Given the description of an element on the screen output the (x, y) to click on. 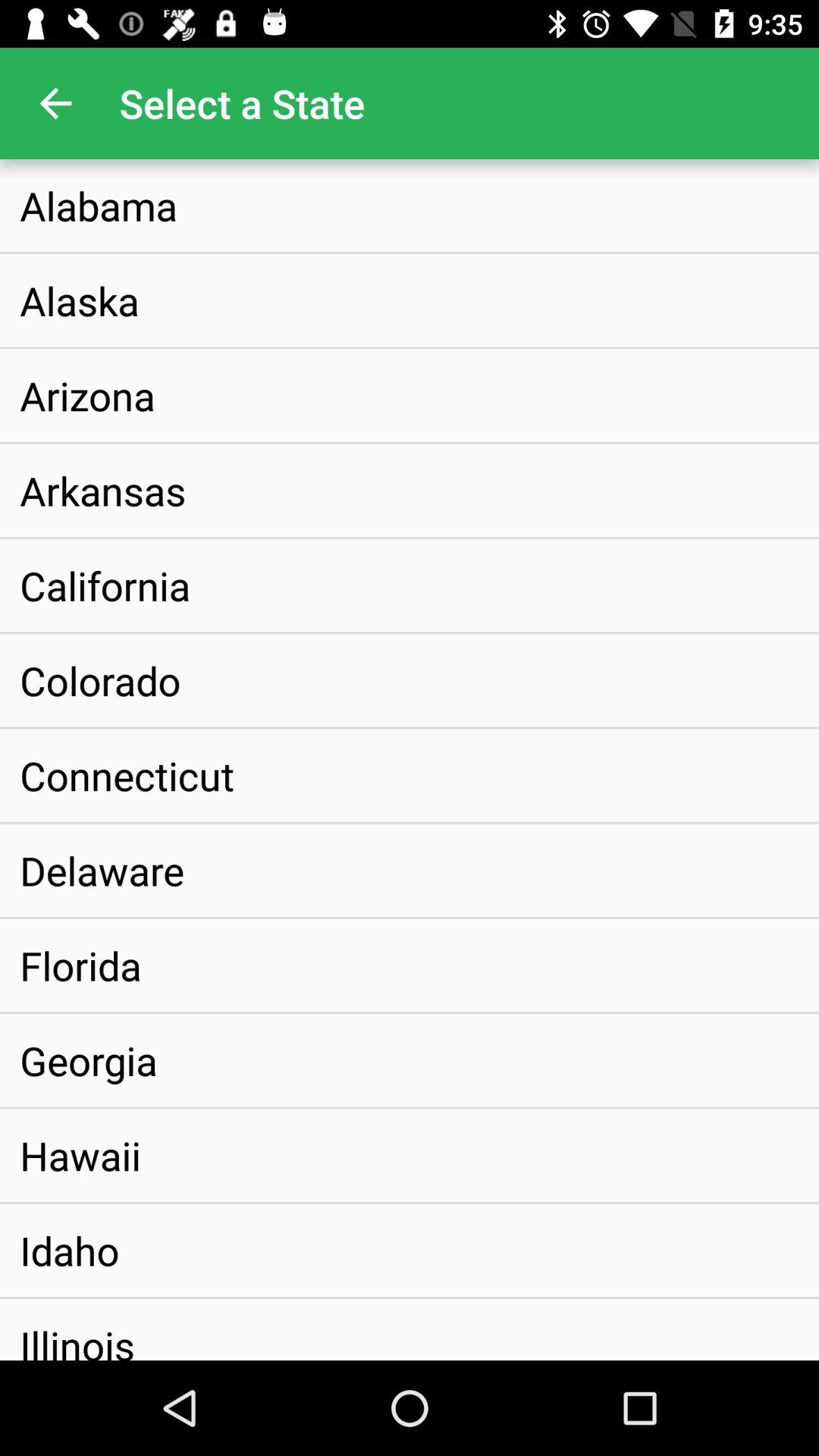
turn off the item above connecticut item (100, 680)
